Given the description of an element on the screen output the (x, y) to click on. 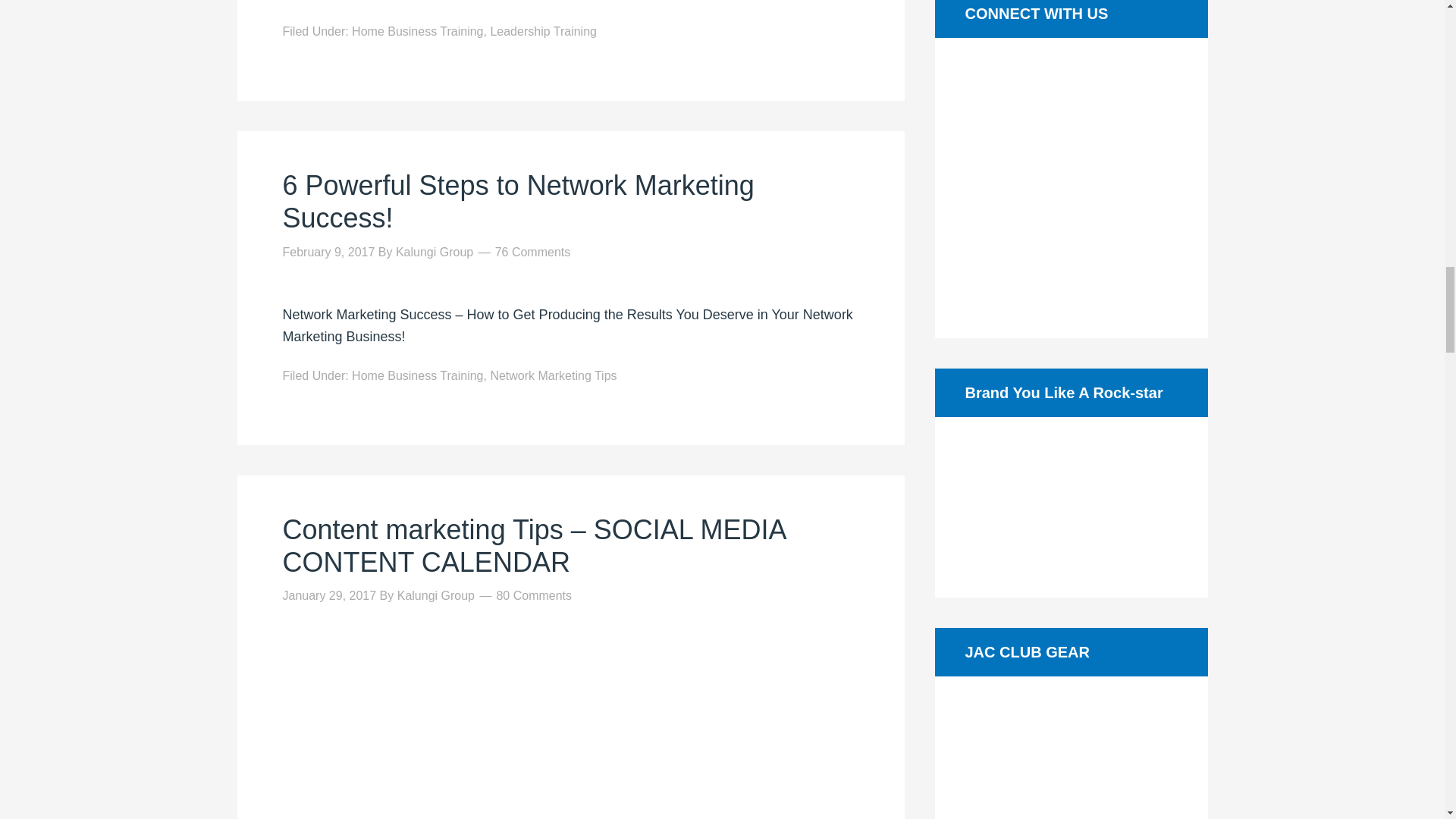
Visit Us On Pinterest (1144, 177)
Visit Us On Youtube (1107, 177)
Visit Us On Linkedin (1070, 177)
Check Our Feed (1052, 297)
Visit Us On Instagram (1089, 297)
Visit Us On Twitter (1033, 177)
Visit Us On Facebook (996, 177)
